Given the description of an element on the screen output the (x, y) to click on. 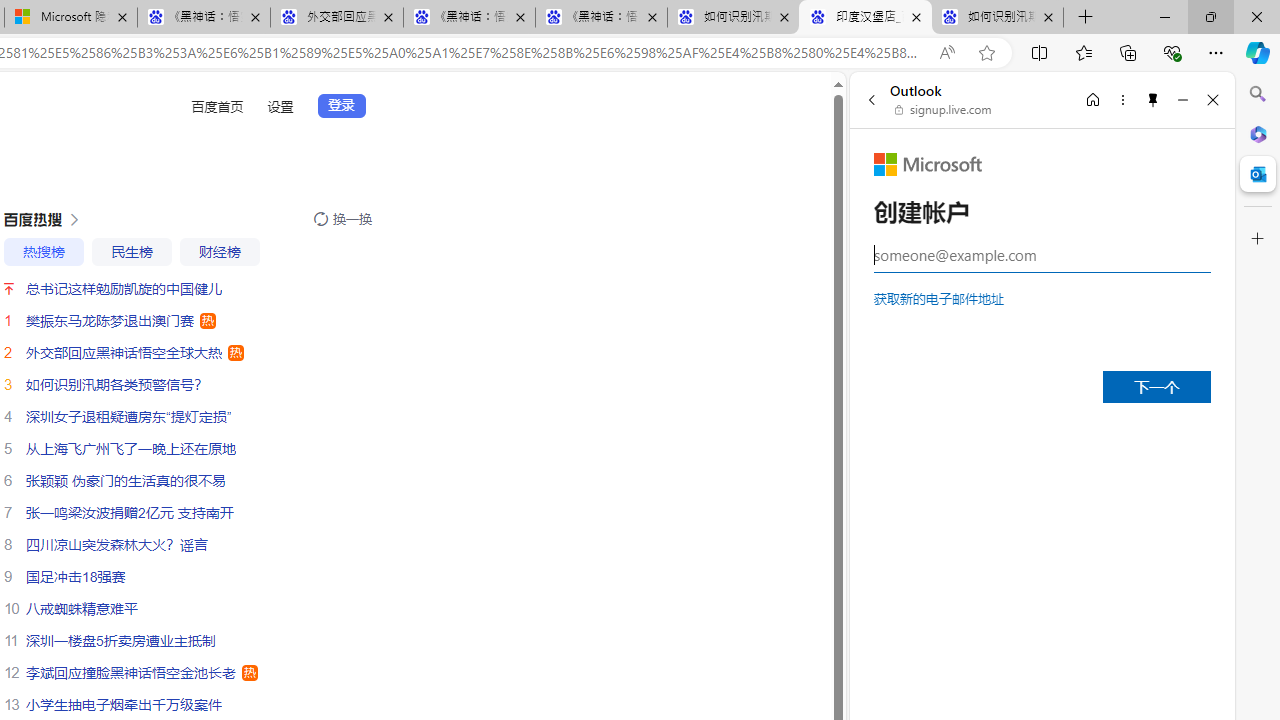
Unpin side pane (1153, 99)
